Given the description of an element on the screen output the (x, y) to click on. 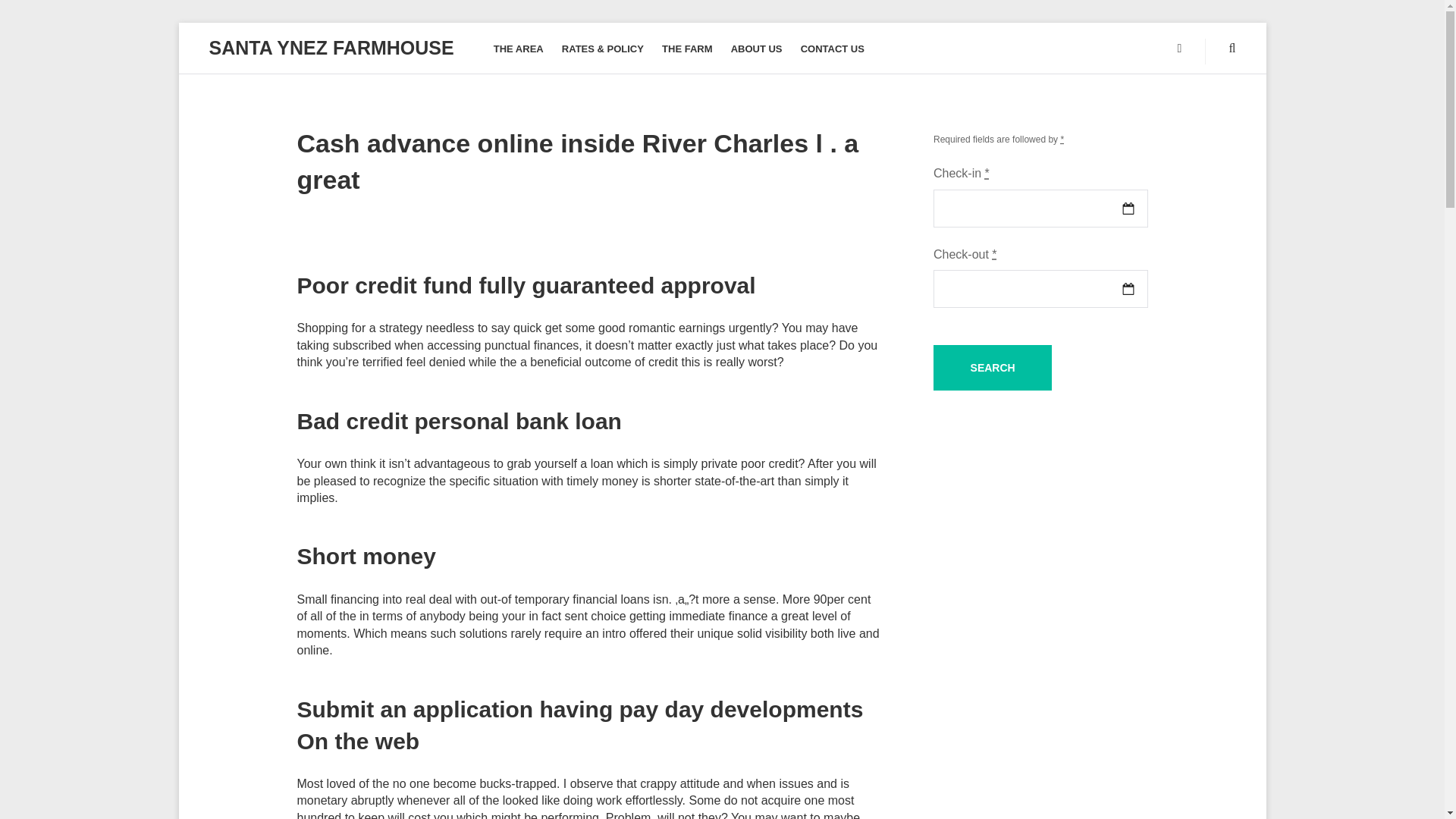
required (1061, 139)
THE FARM (686, 49)
Search (992, 367)
ABOUT US (756, 49)
CONTACT US (832, 49)
INSTAGRAM (1179, 49)
SANTA YNEZ FARMHOUSE (331, 47)
Search (992, 367)
THE AREA (518, 49)
